Given the description of an element on the screen output the (x, y) to click on. 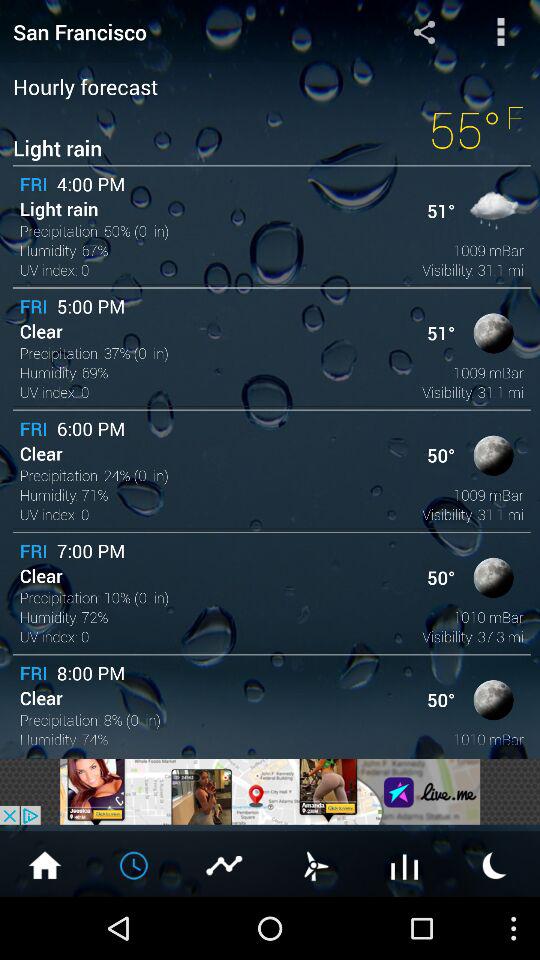
click to go home (45, 864)
